Given the description of an element on the screen output the (x, y) to click on. 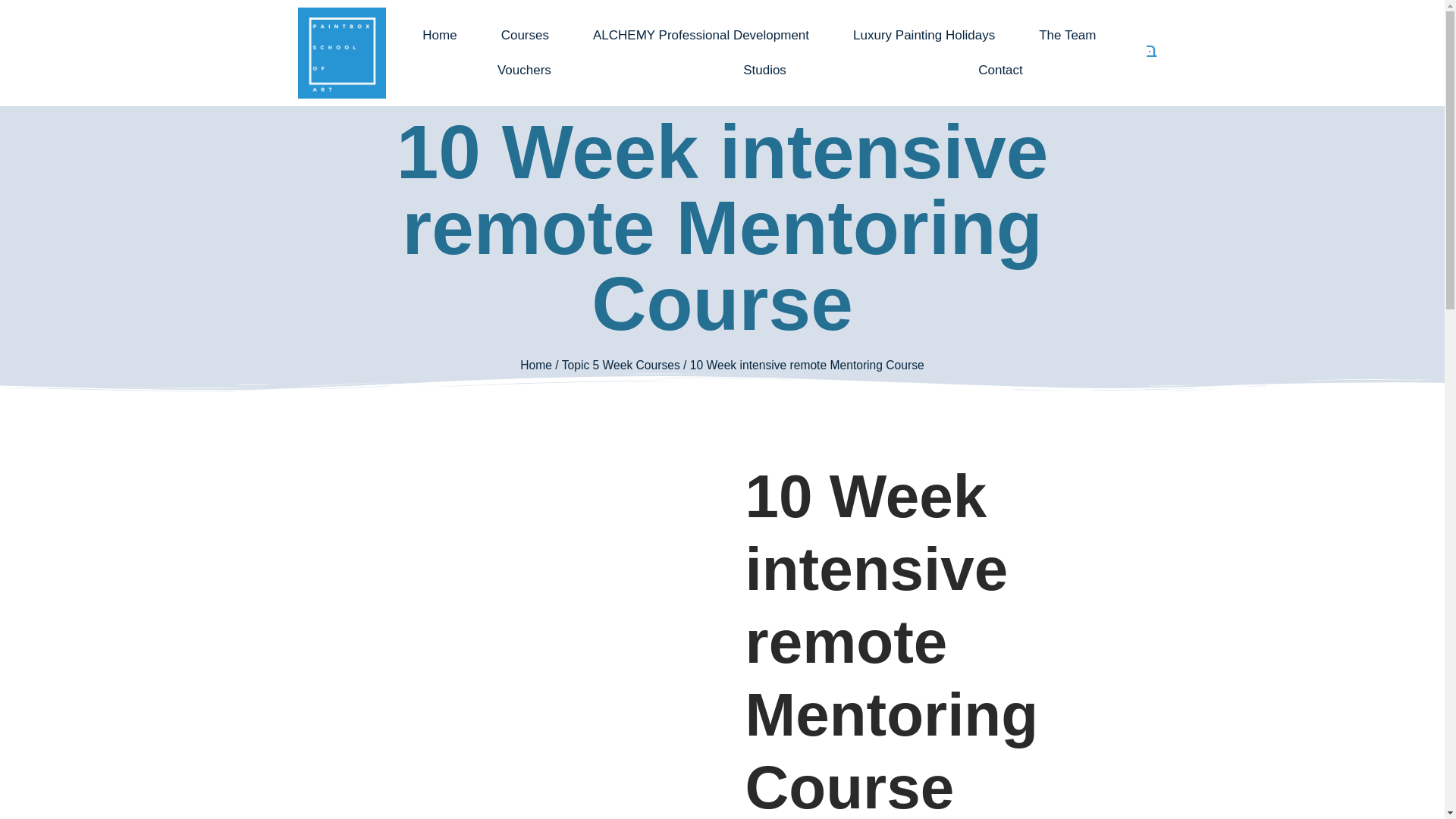
Studios (764, 70)
Topic 5 Week Courses (620, 364)
The Team (1066, 35)
Home (535, 364)
Home (439, 35)
Luxury Painting Holidays (923, 35)
Courses (525, 35)
Contact (1000, 70)
Vouchers (523, 70)
ALCHEMY Professional Development (700, 35)
